Given the description of an element on the screen output the (x, y) to click on. 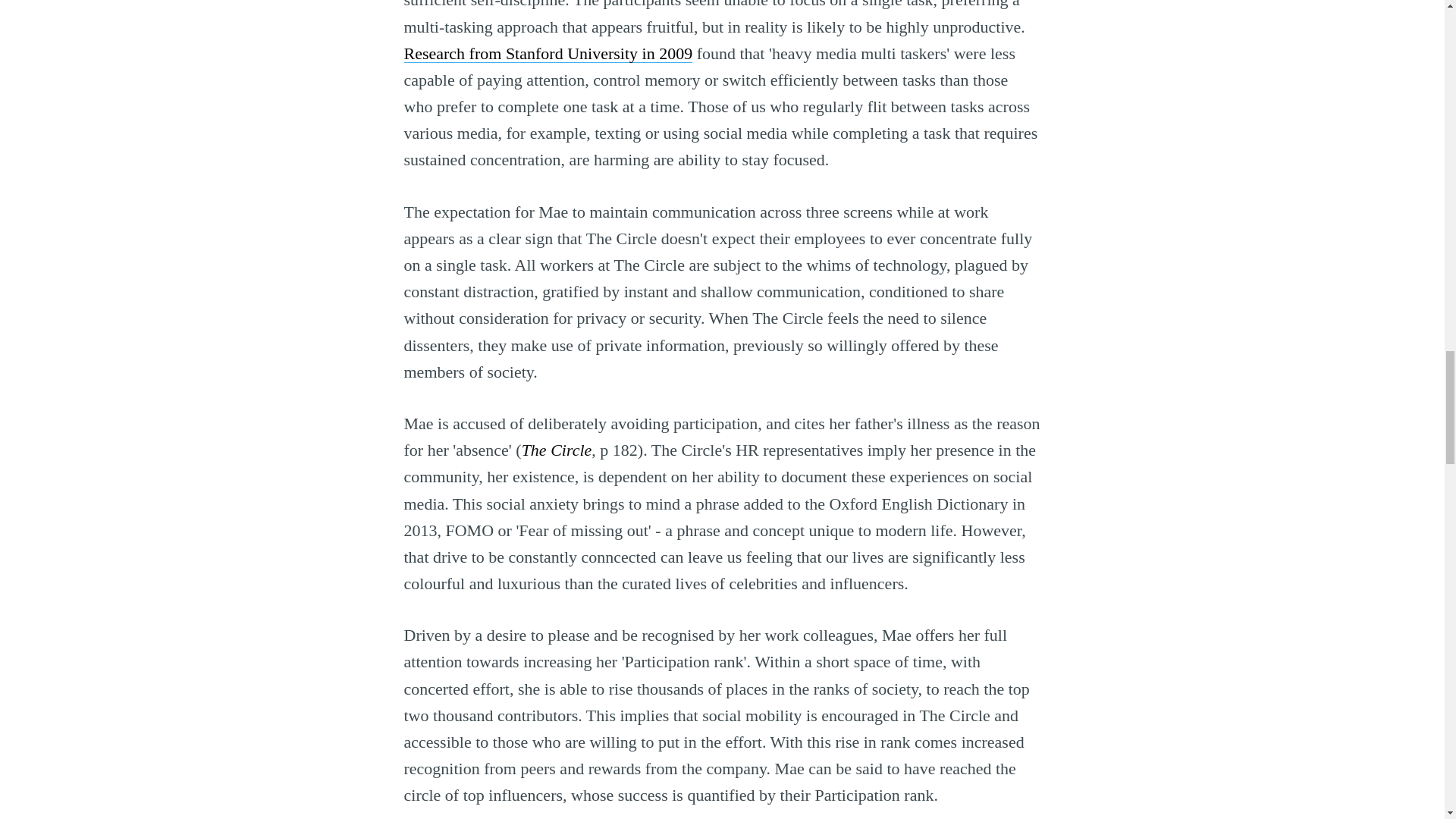
Research from Stanford University in 2009 (548, 53)
